Given the description of an element on the screen output the (x, y) to click on. 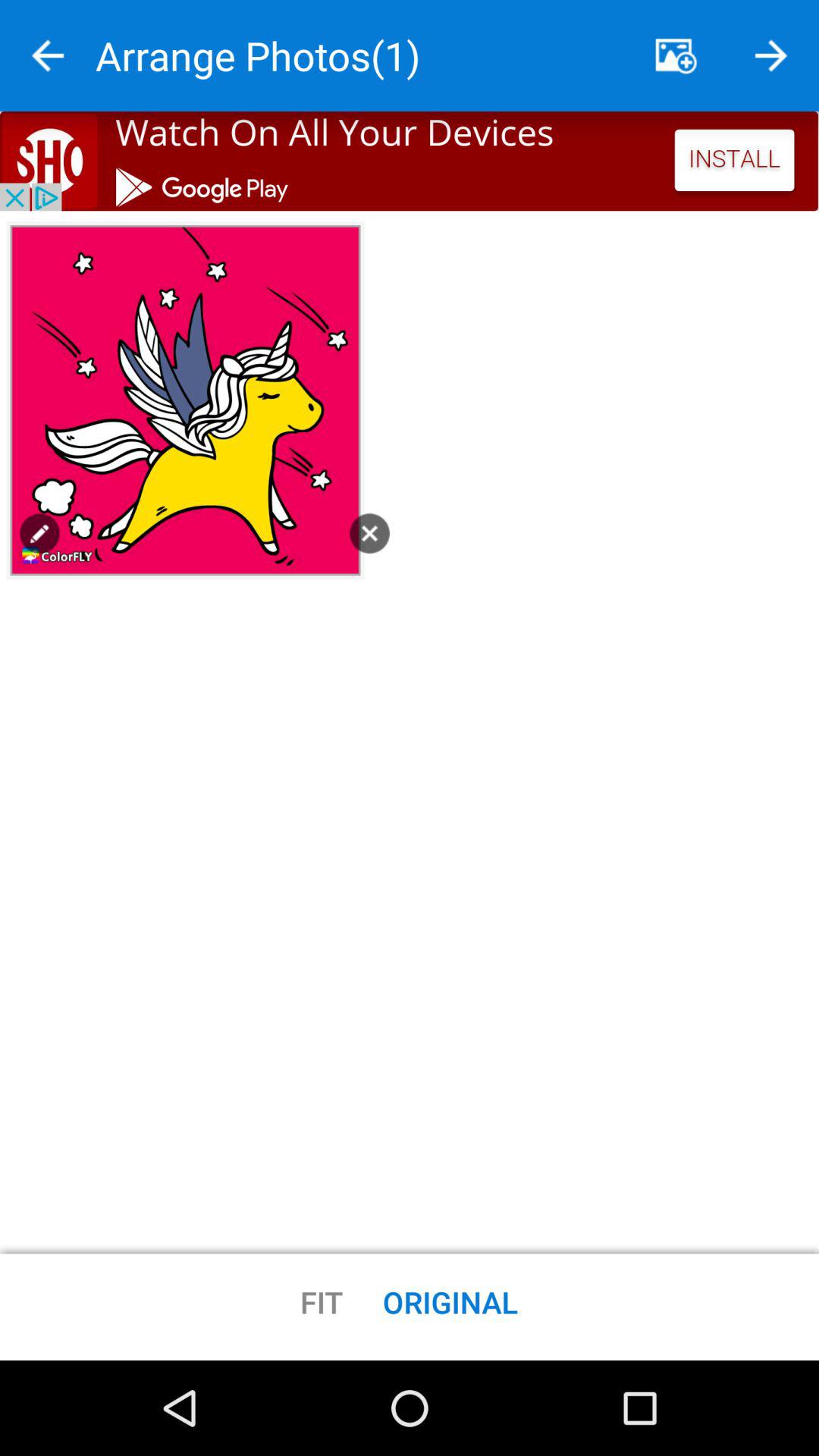
add pictures (675, 55)
